Given the description of an element on the screen output the (x, y) to click on. 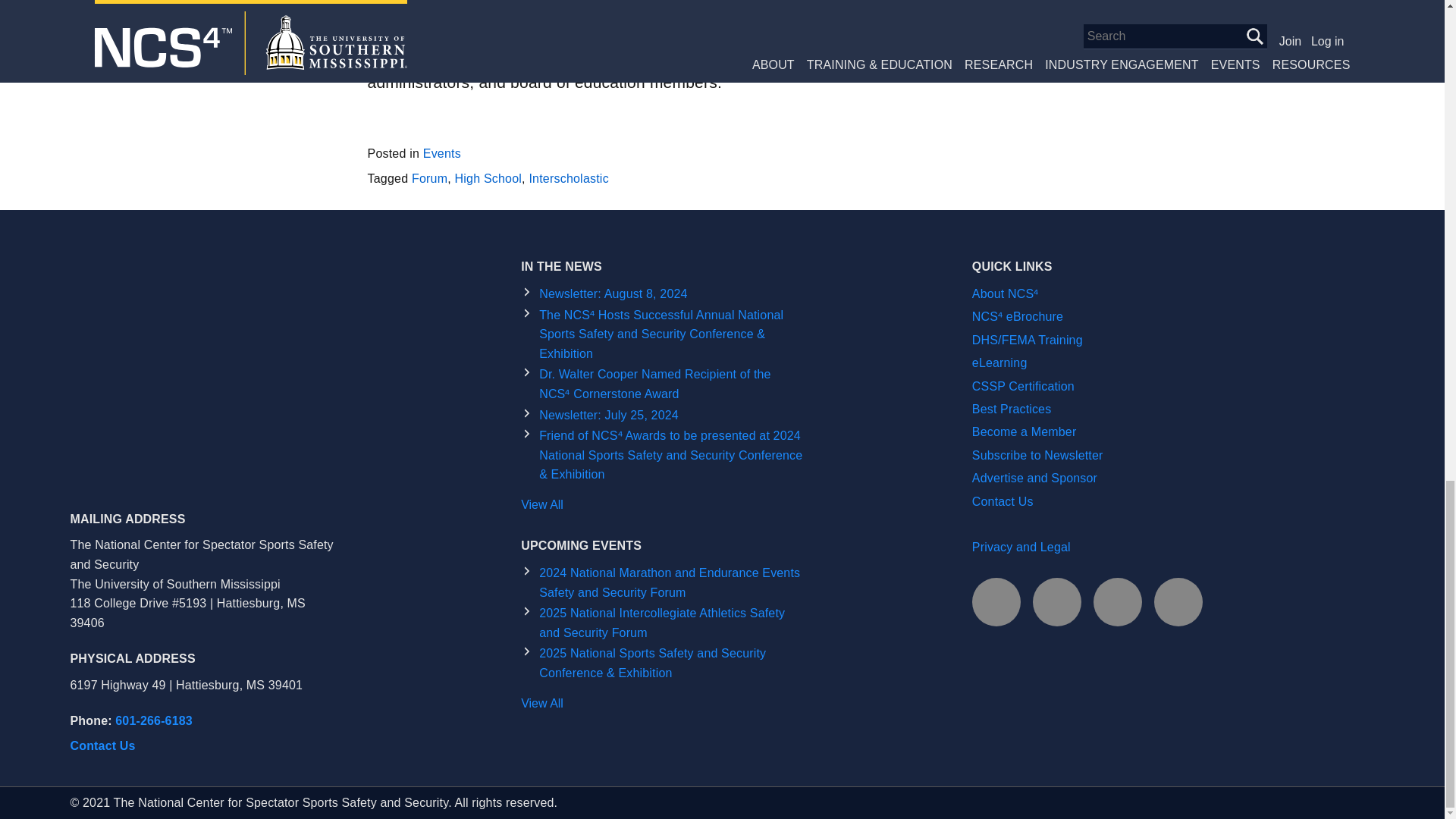
YouTube (1178, 602)
Twitter (1117, 602)
LinkedIn (1056, 602)
Facebook (996, 602)
